Given the description of an element on the screen output the (x, y) to click on. 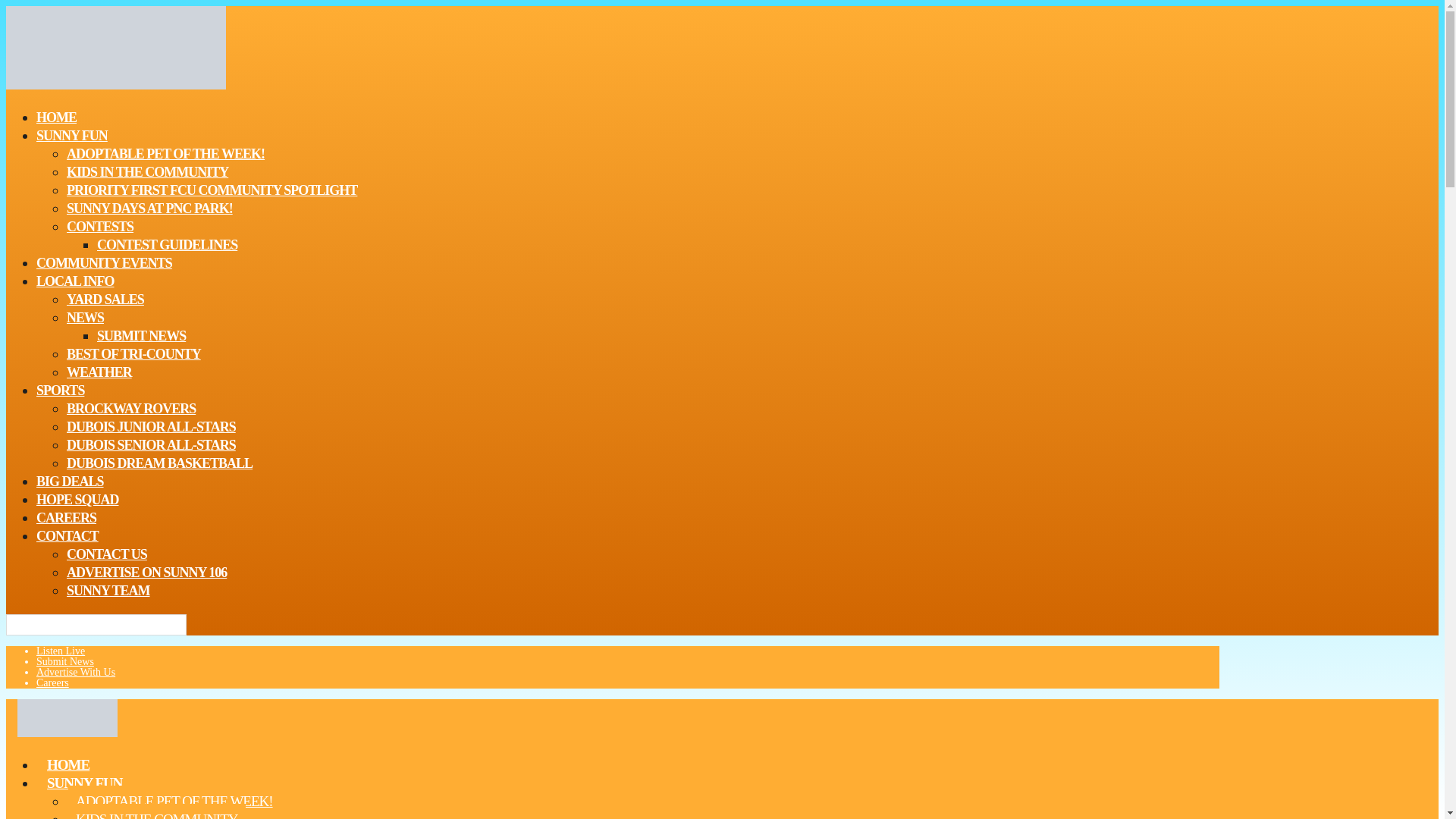
CONTACT US (106, 554)
Submit News (65, 661)
CONTESTS (99, 226)
DUBOIS JUNIOR ALL-STARS (150, 426)
ADVERTISE ON SUNNY 106 (146, 572)
SUBMIT NEWS (141, 335)
BIG DEALS (69, 481)
LOCAL INFO (75, 281)
NEWS (84, 317)
WEATHER (99, 372)
DUBOIS DREAM BASKETBALL (158, 463)
Sunny 106 FM (67, 731)
SUNNY TEAM (107, 590)
KIDS IN THE COMMUNITY (147, 171)
CONTACT (67, 536)
